Given the description of an element on the screen output the (x, y) to click on. 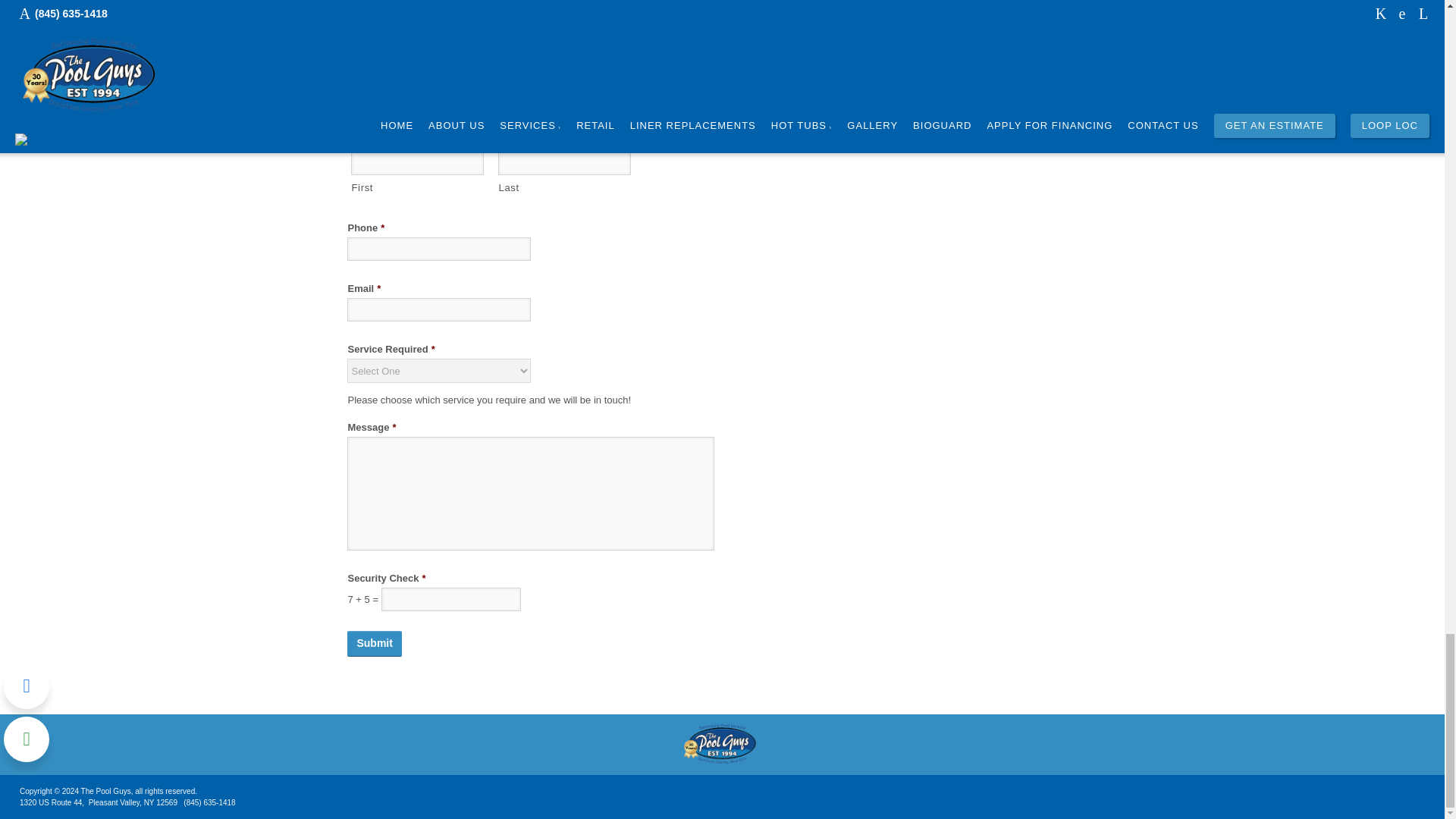
Submit (374, 643)
The Pool Guys (722, 744)
